Given the description of an element on the screen output the (x, y) to click on. 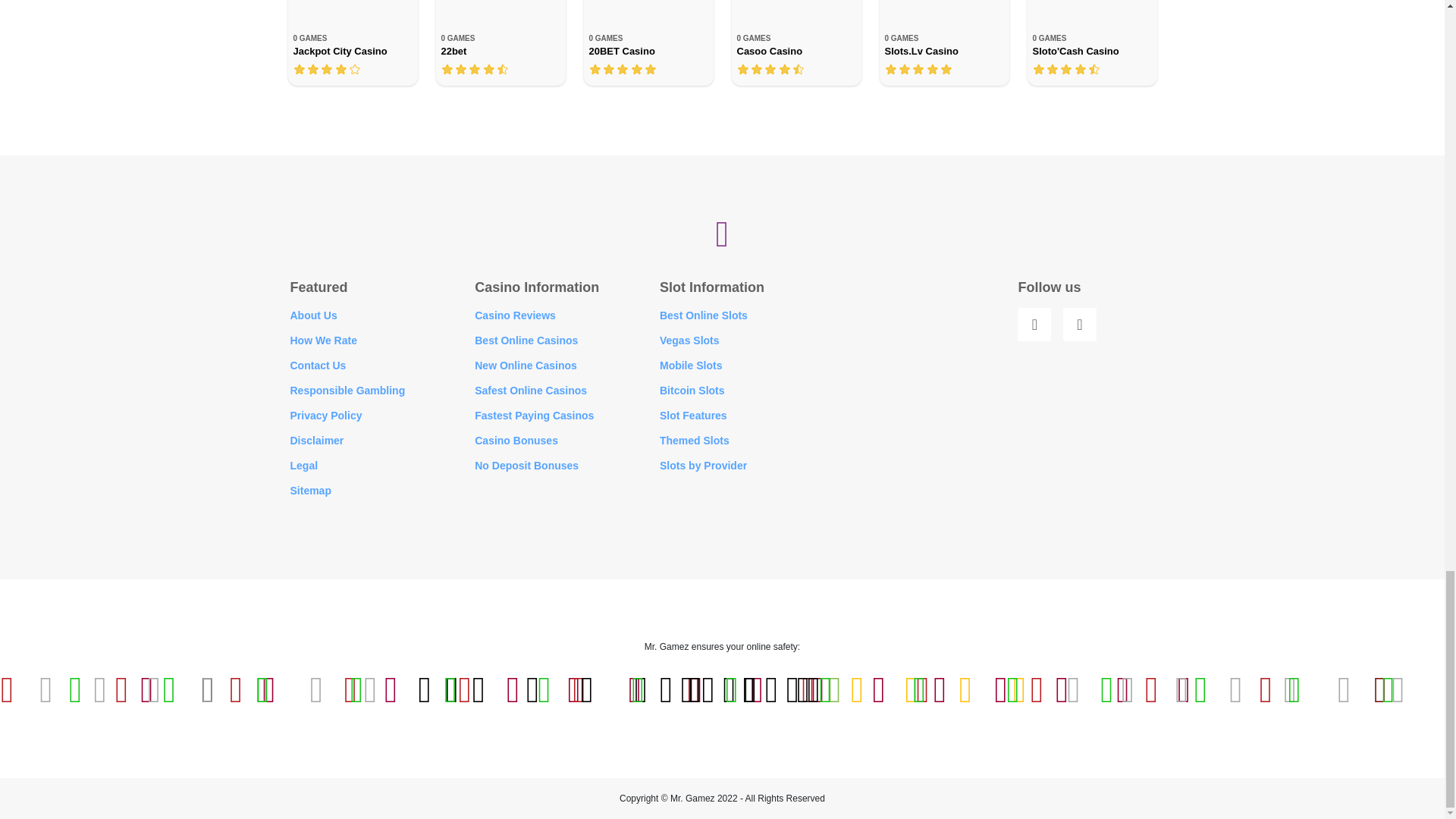
How We Rate (322, 340)
Privacy Policy (325, 415)
22bet (499, 42)
Casoo Casino (795, 42)
About Us (312, 315)
Jackpot City Casino (648, 42)
Legal (795, 42)
